Given the description of an element on the screen output the (x, y) to click on. 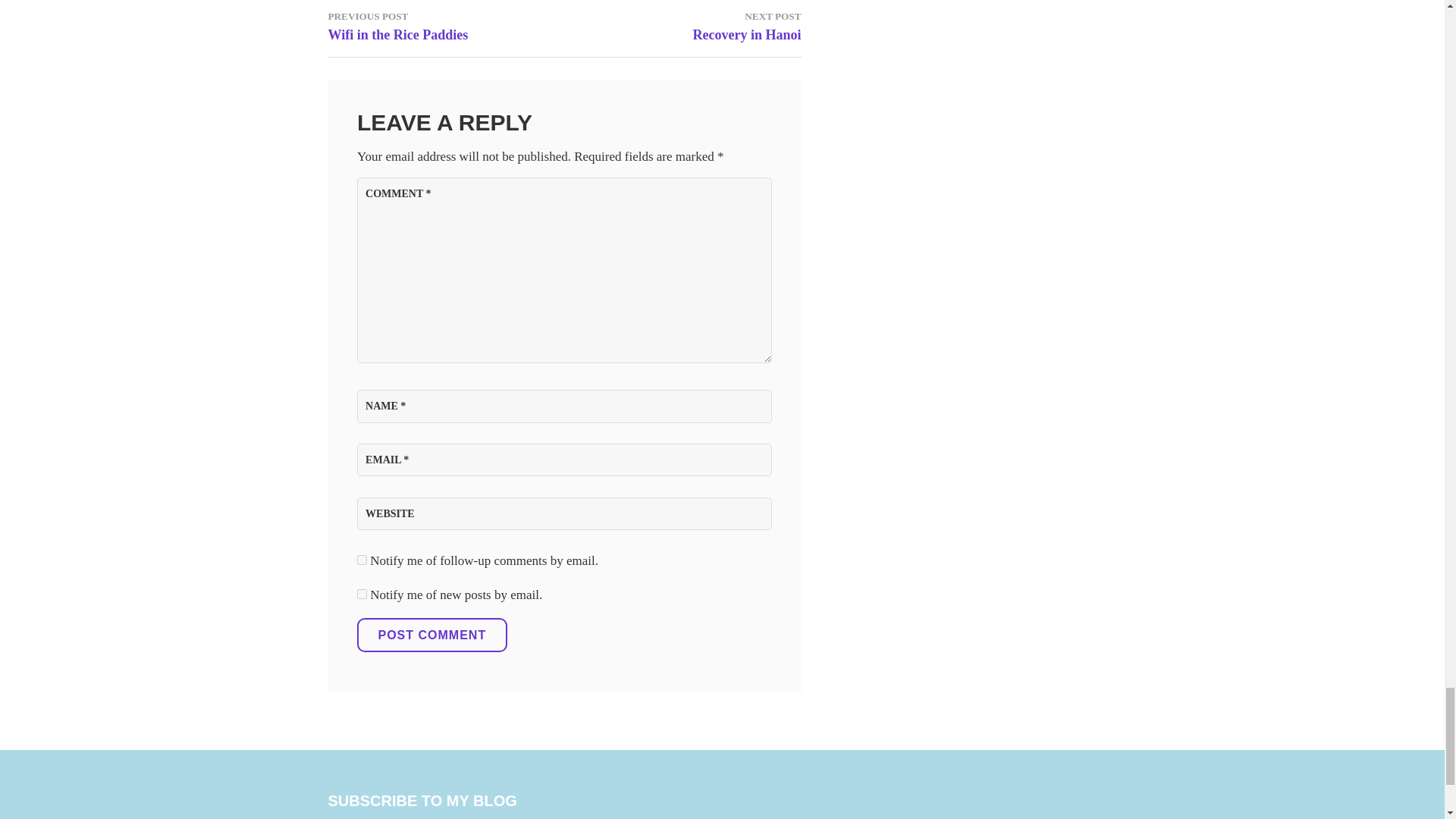
Post Comment (682, 25)
subscribe (445, 25)
Post Comment (431, 635)
subscribe (361, 560)
